Given the description of an element on the screen output the (x, y) to click on. 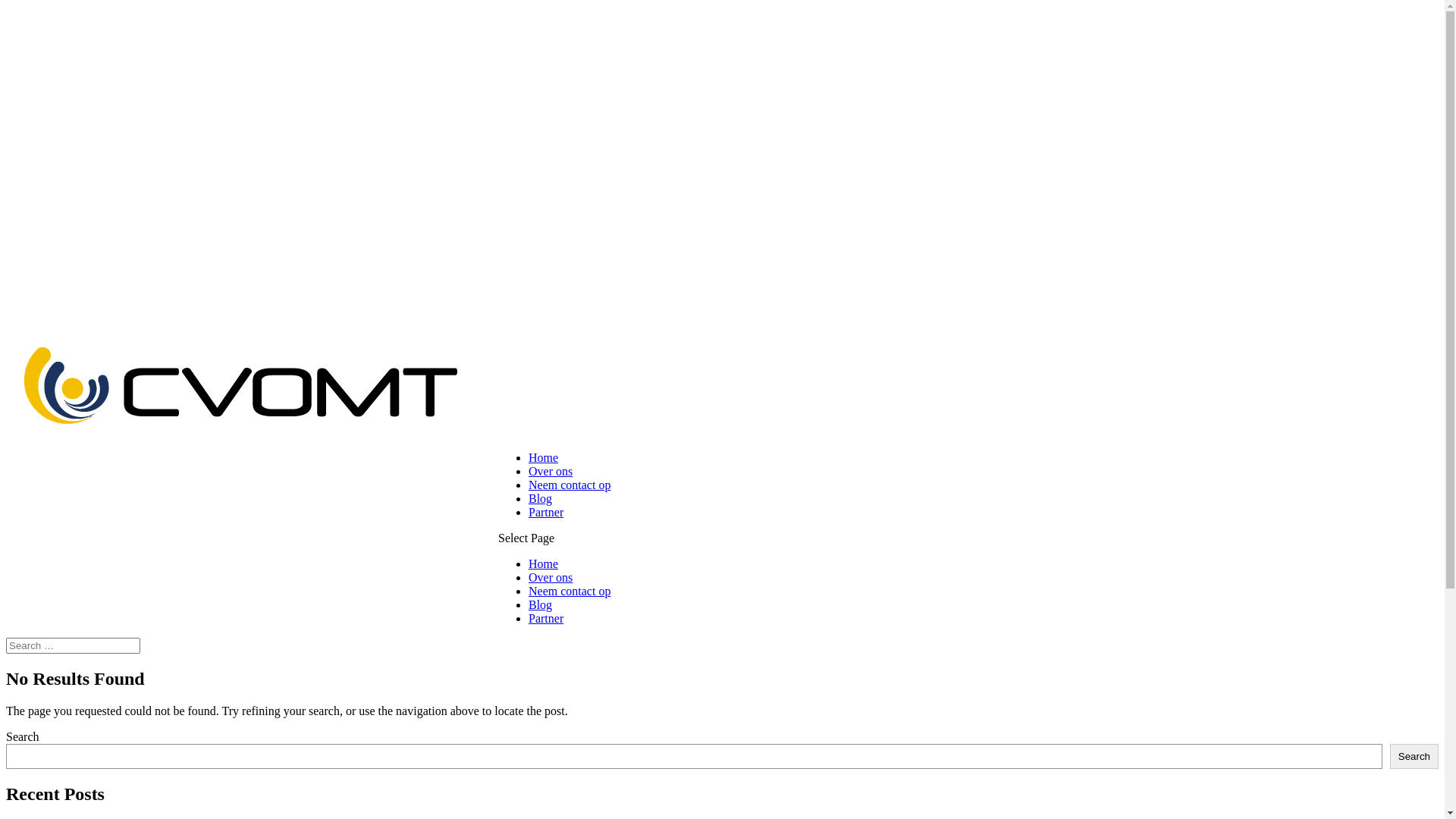
Neem contact op Element type: text (569, 484)
Blog Element type: text (540, 604)
Partner Element type: text (545, 511)
Partner Element type: text (545, 617)
Over ons Element type: text (550, 577)
Search for: Element type: hover (73, 645)
Neem contact op Element type: text (569, 590)
Home Element type: text (543, 563)
Over ons Element type: text (550, 470)
Blog Element type: text (540, 498)
Home Element type: text (543, 457)
Search Element type: text (1414, 755)
